Given the description of an element on the screen output the (x, y) to click on. 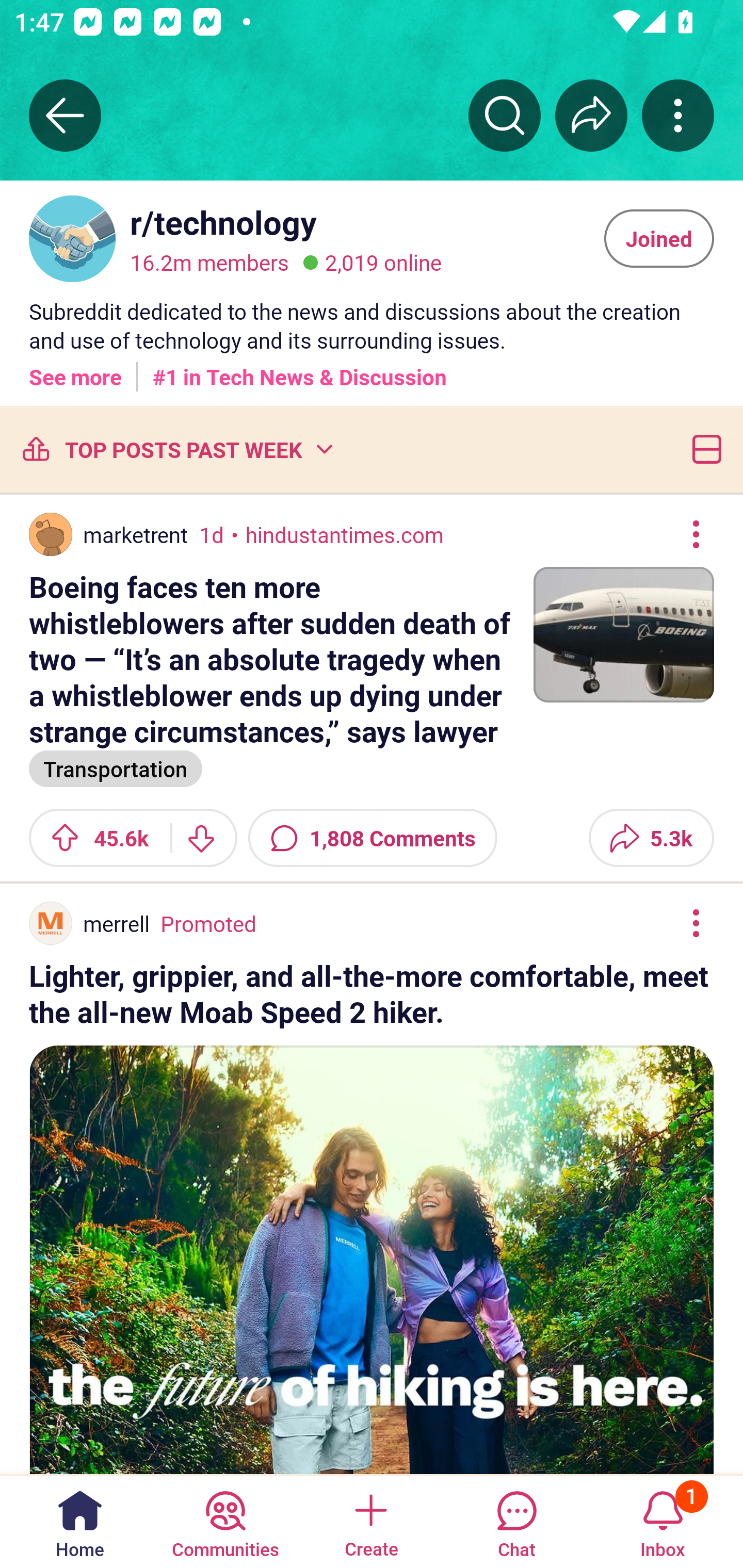
Back (64, 115)
Search r/﻿technology (504, 115)
Share r/﻿technology (591, 115)
More community actions (677, 115)
Top posts TOP POSTS PAST WEEK (176, 449)
Card (703, 449)
Transportation (115, 767)
Home (80, 1520)
Communities (225, 1520)
Create a post Create (370, 1520)
Chat (516, 1520)
Inbox, has 1 notification 1 Inbox (662, 1520)
